Given the description of an element on the screen output the (x, y) to click on. 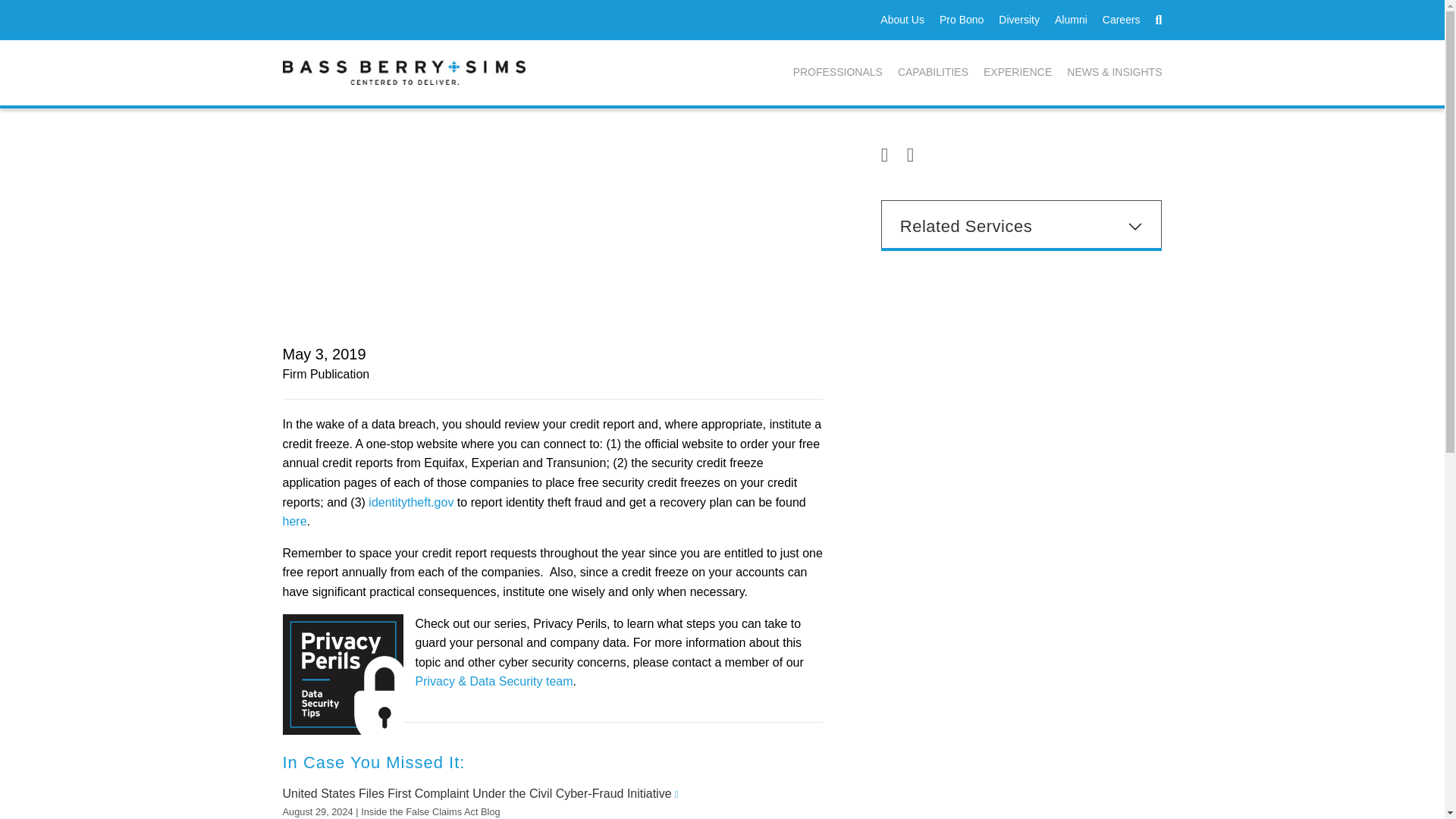
CAPABILITIES (933, 72)
PROFESSIONALS (837, 72)
EXPERIENCE (1017, 72)
Alumni (1070, 19)
About Us (902, 19)
Diversity (1018, 19)
Pro Bono (961, 19)
Careers (1121, 19)
